Given the description of an element on the screen output the (x, y) to click on. 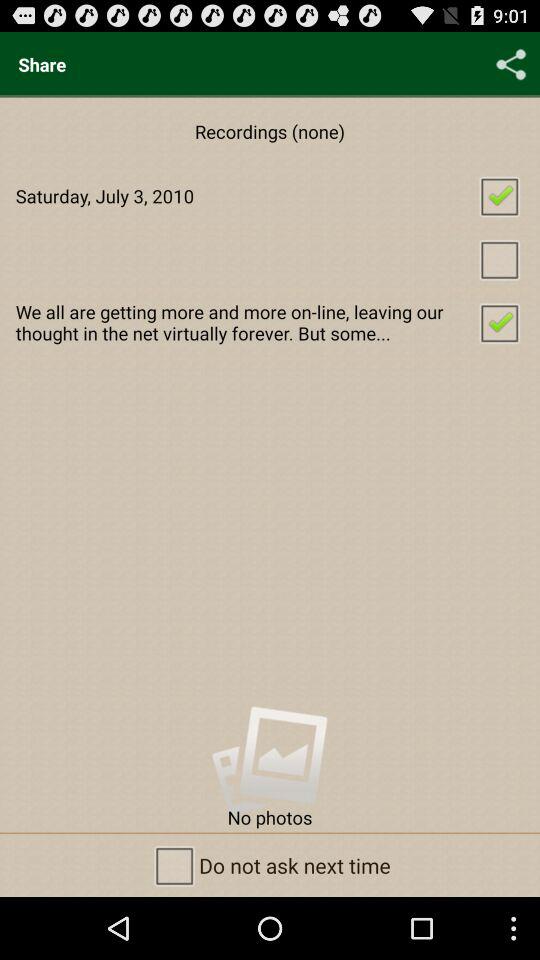
click do not ask item (269, 864)
